Given the description of an element on the screen output the (x, y) to click on. 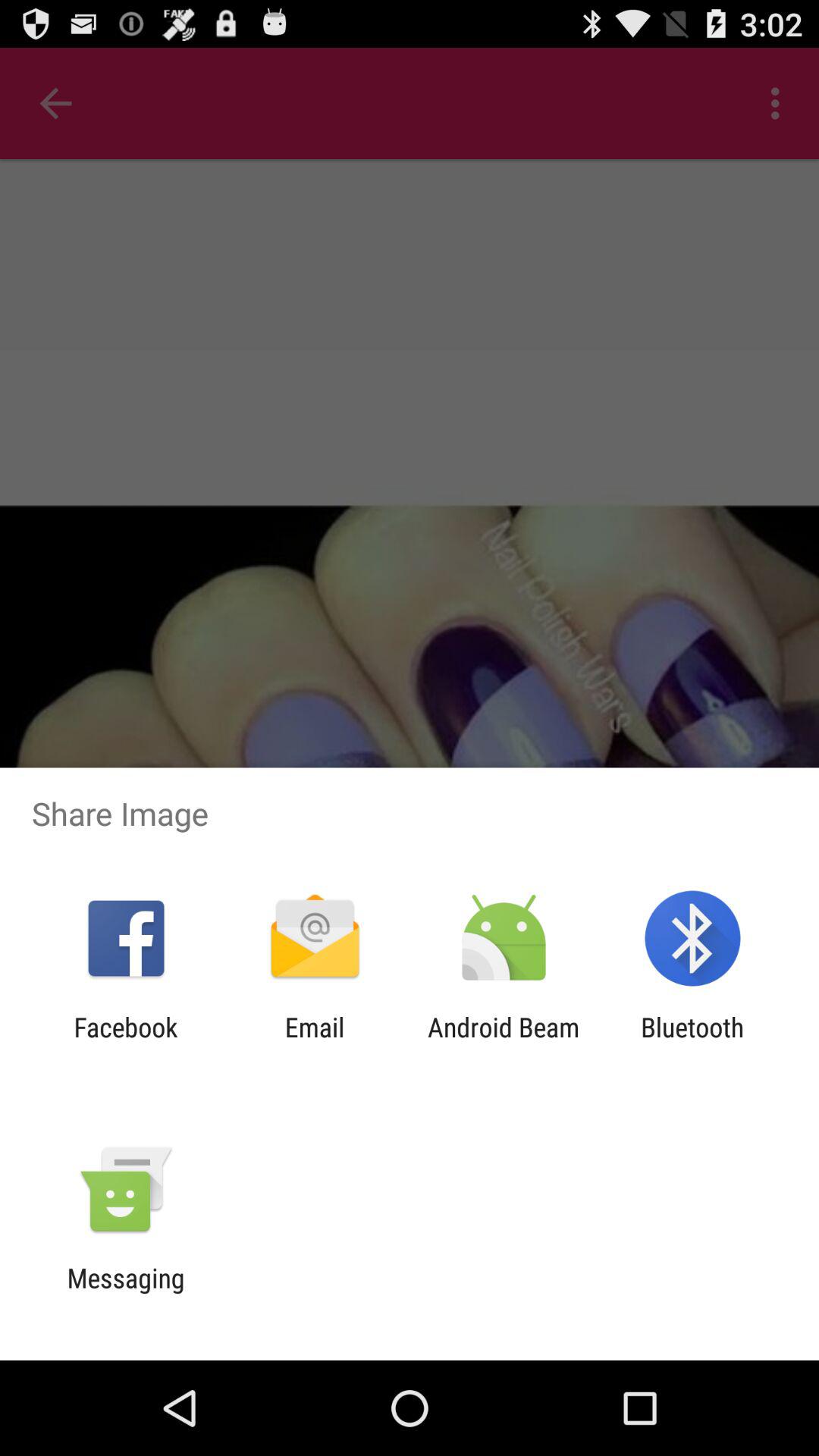
tap icon next to facebook icon (314, 1042)
